Given the description of an element on the screen output the (x, y) to click on. 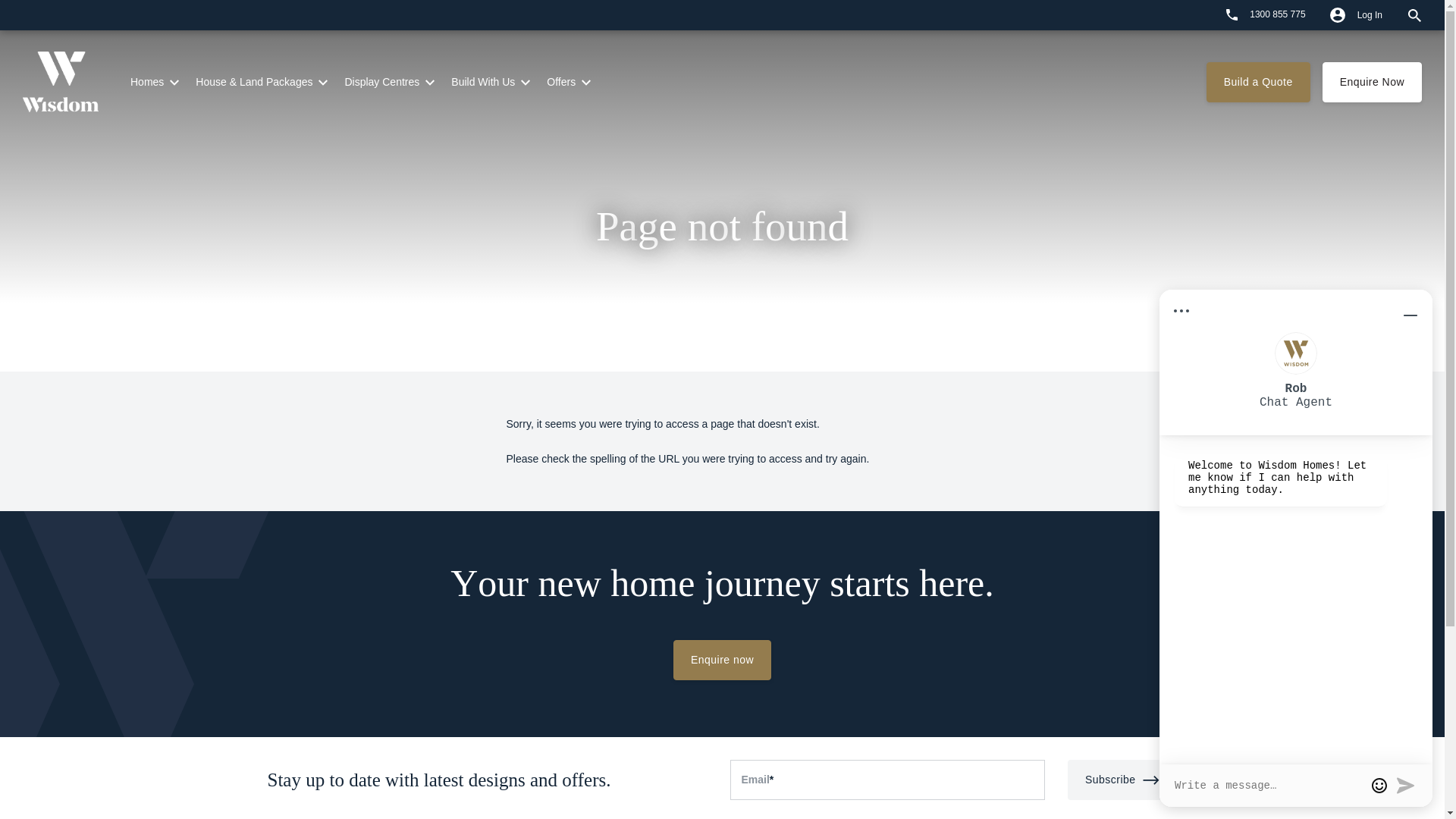
1300 855 775 Element type: text (1265, 14)
Build With Us Element type: text (482, 81)
Enquire now Element type: text (722, 660)
  Element type: text (1205, 14)
Display Centres Element type: text (381, 81)
Build a Quote Element type: text (1258, 82)
House & Land Packages Element type: text (253, 81)
Enquire Now Element type: text (1371, 82)
Offers Element type: text (560, 81)
Subscribe Element type: text (1122, 779)
Homes Element type: text (146, 81)
Log In Element type: text (1355, 14)
